Given the description of an element on the screen output the (x, y) to click on. 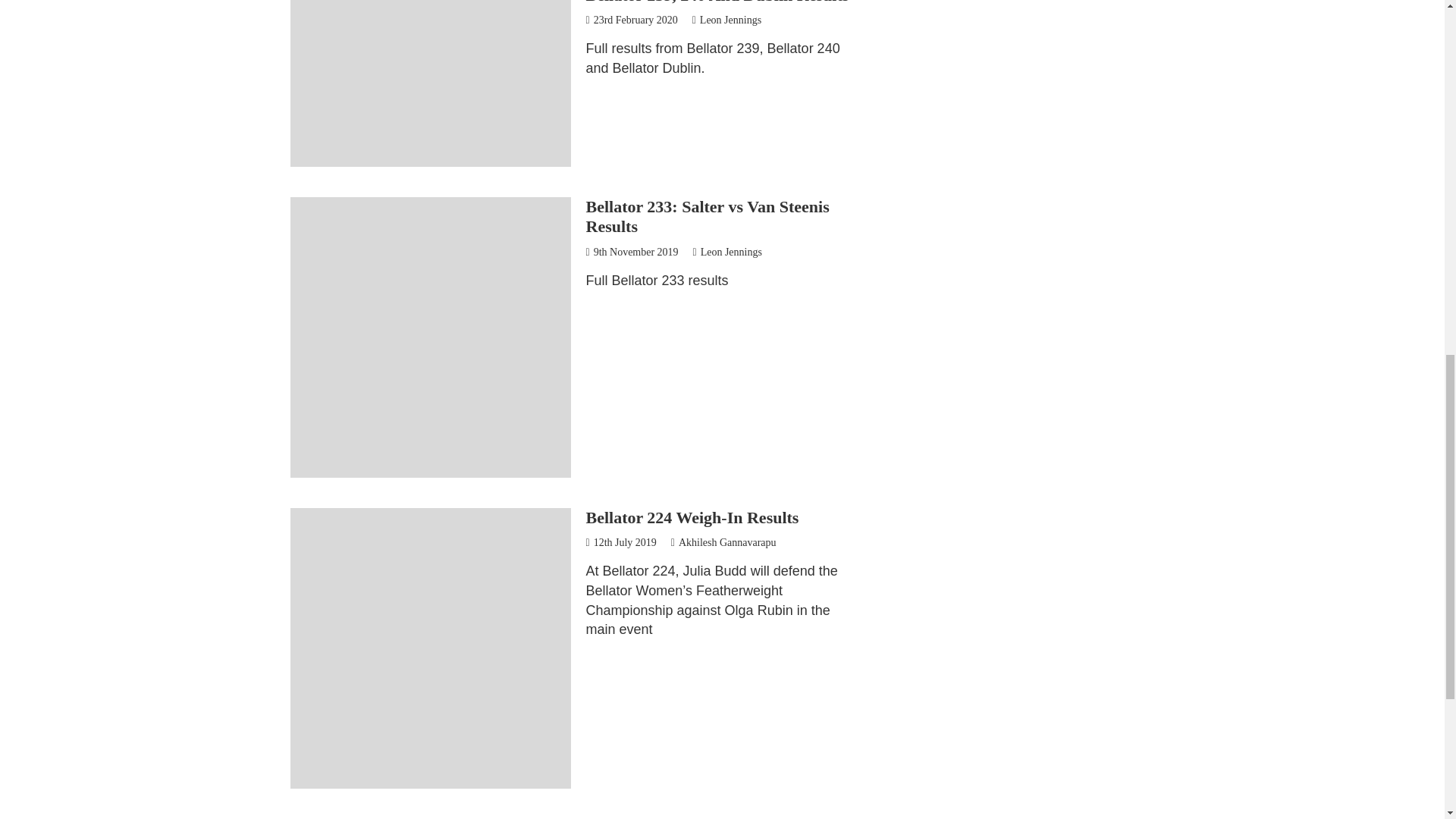
23rd February 2020 (631, 19)
Leon Jennings (727, 19)
Bellator 239, 240 And Dublin Results (716, 2)
Bellator 233: Salter vs Van Steenis Results (706, 216)
